Given the description of an element on the screen output the (x, y) to click on. 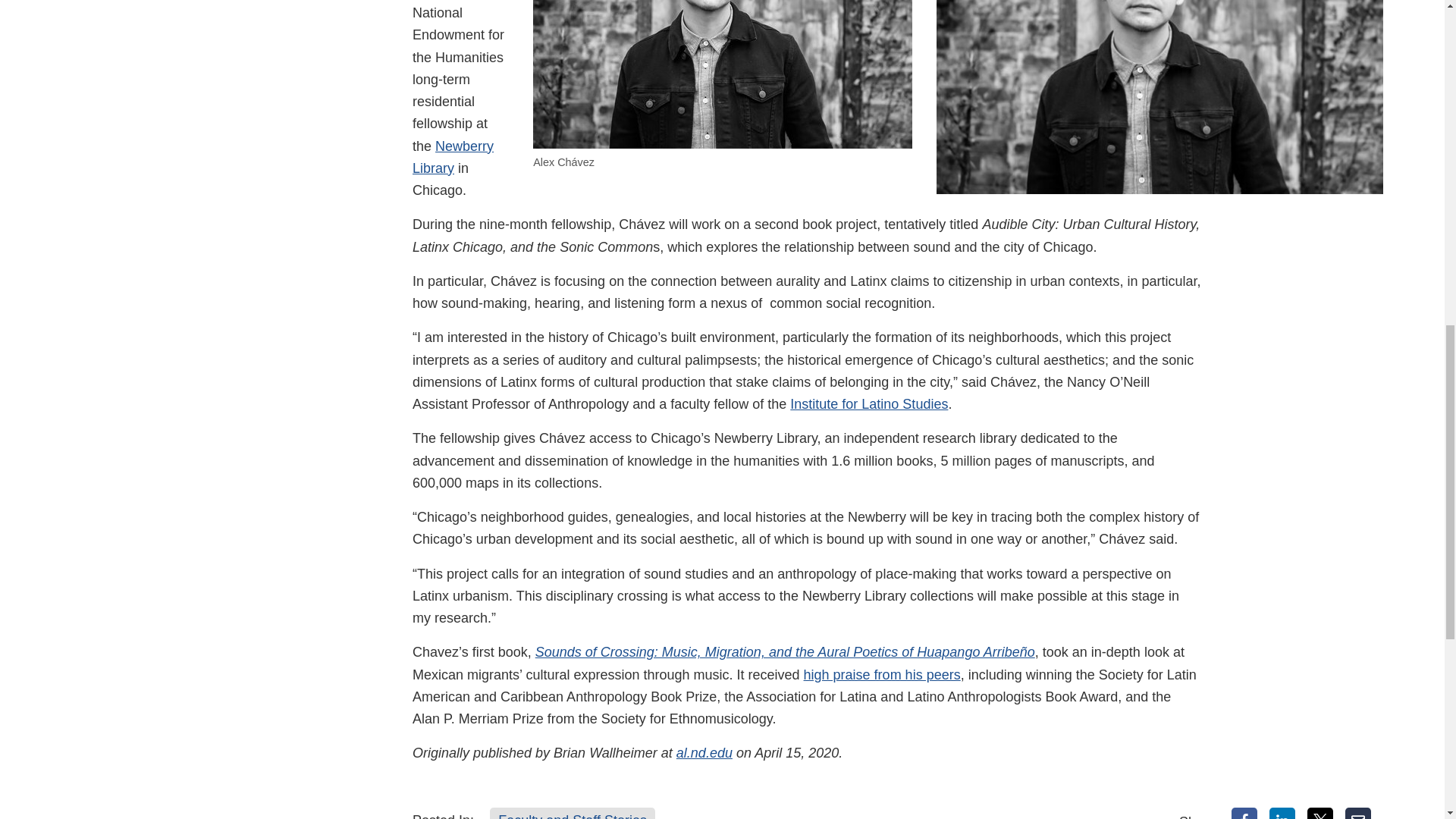
LinkedIn (1282, 813)
Newberry Library (452, 157)
Institute for Latino Studies (868, 403)
Email (1358, 813)
Facebook (1244, 813)
